Given the description of an element on the screen output the (x, y) to click on. 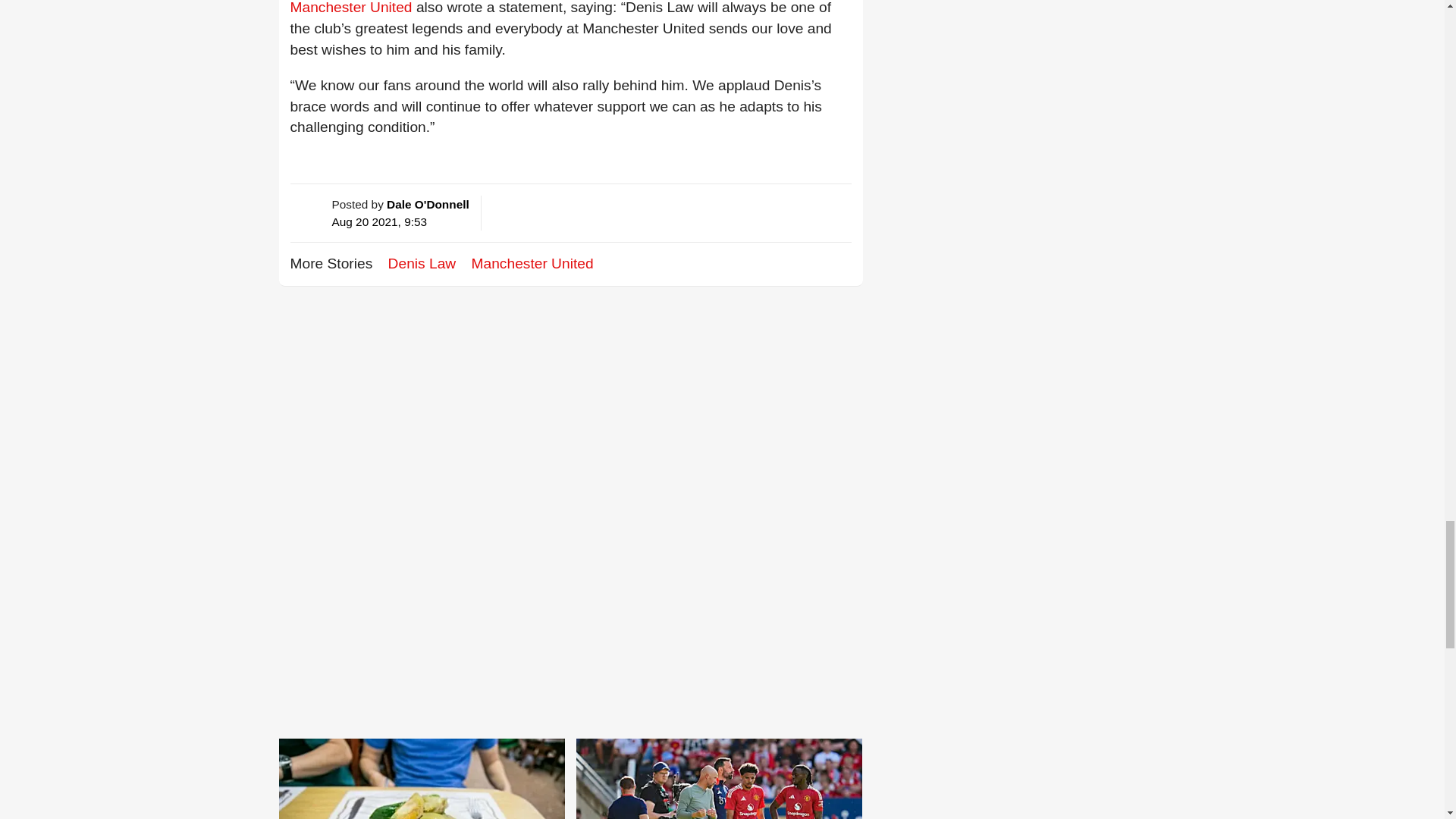
Manchester United (350, 7)
